Given the description of an element on the screen output the (x, y) to click on. 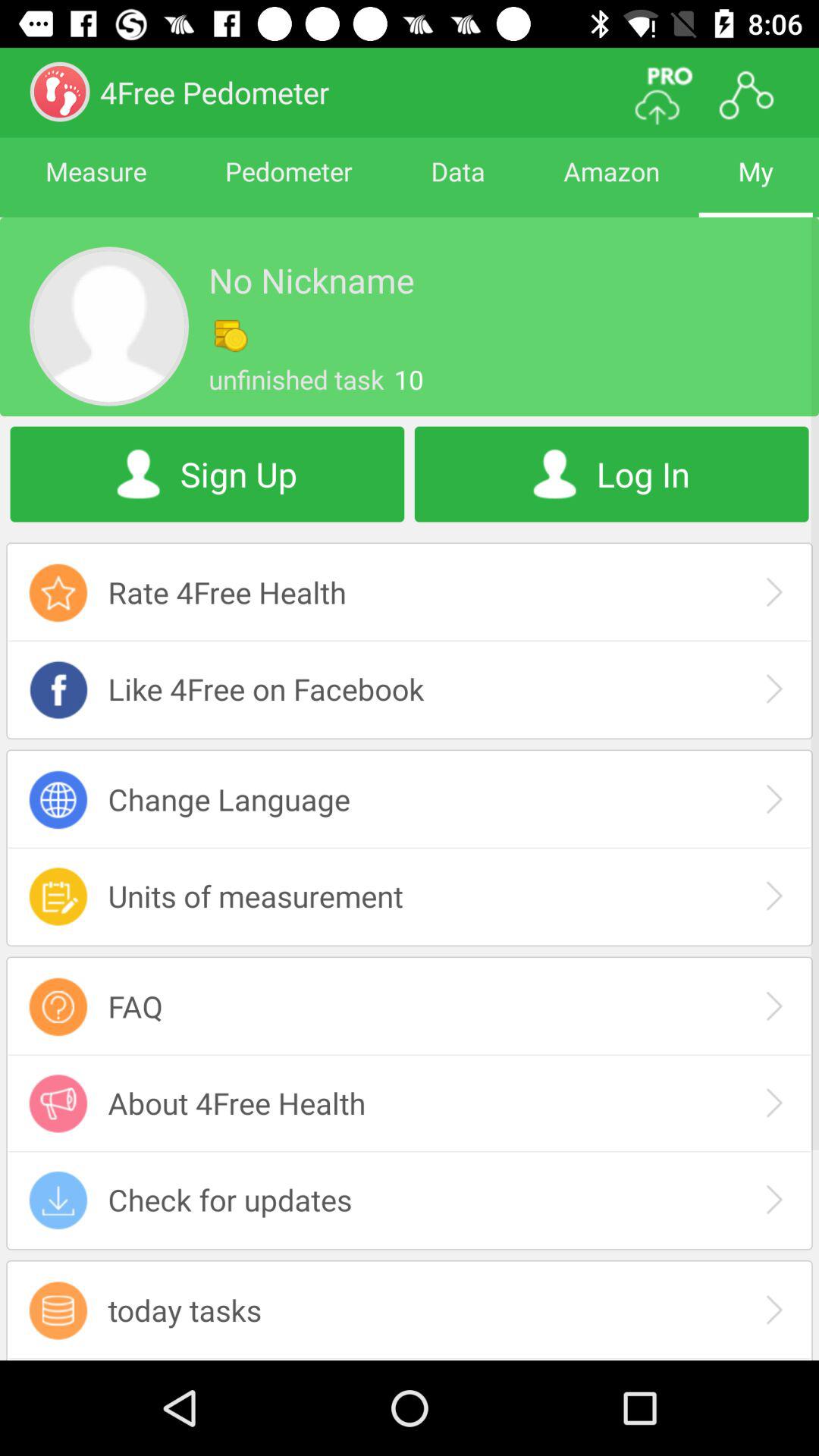
click like 4free on icon (409, 689)
